Given the description of an element on the screen output the (x, y) to click on. 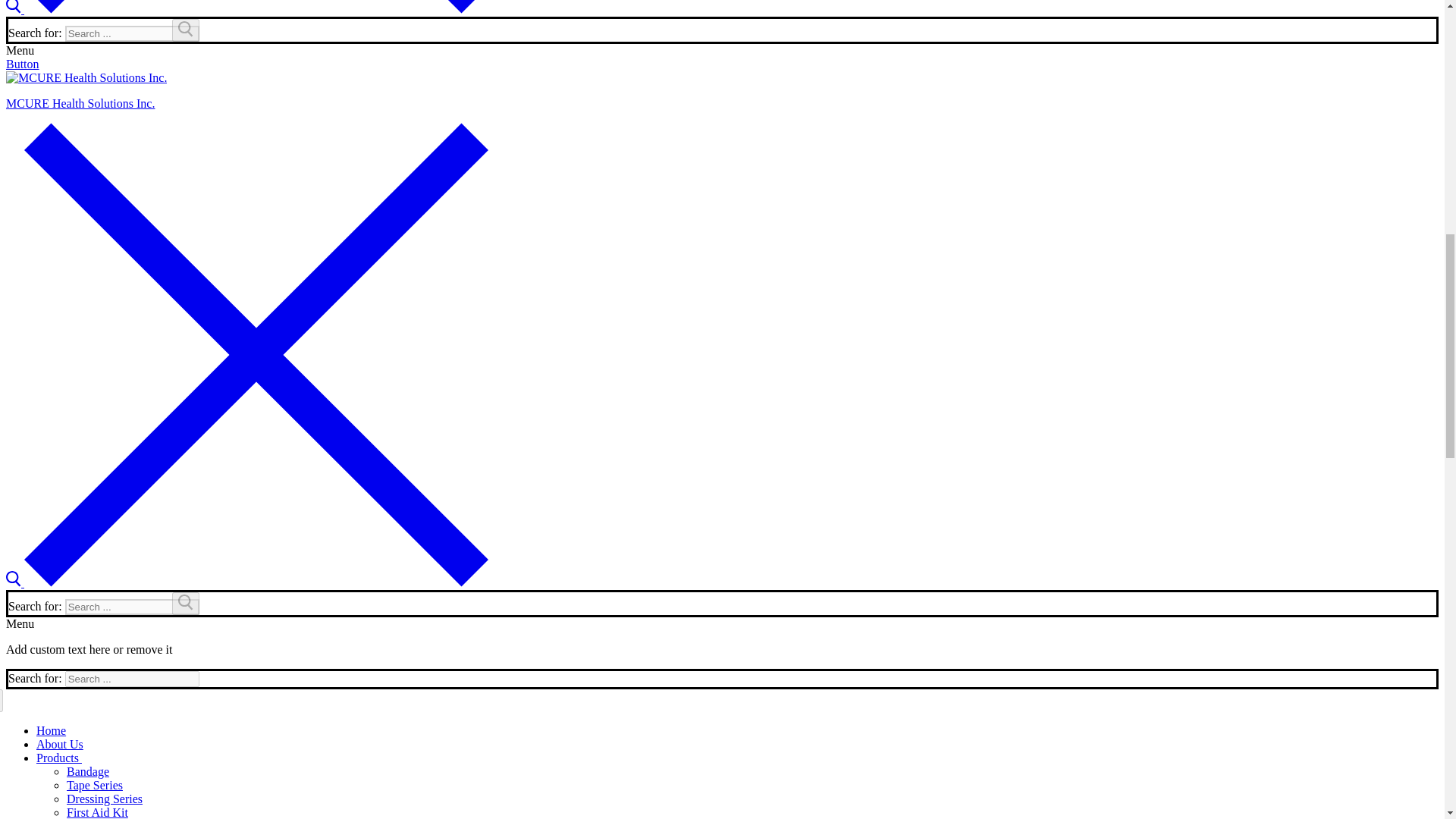
Products  (58, 757)
Search for: (132, 606)
Menu (19, 623)
Home (50, 730)
Search for: (132, 33)
Menu (19, 50)
First Aid Kit (97, 812)
Bandage (87, 771)
Search for: (132, 678)
Button (22, 63)
